Given the description of an element on the screen output the (x, y) to click on. 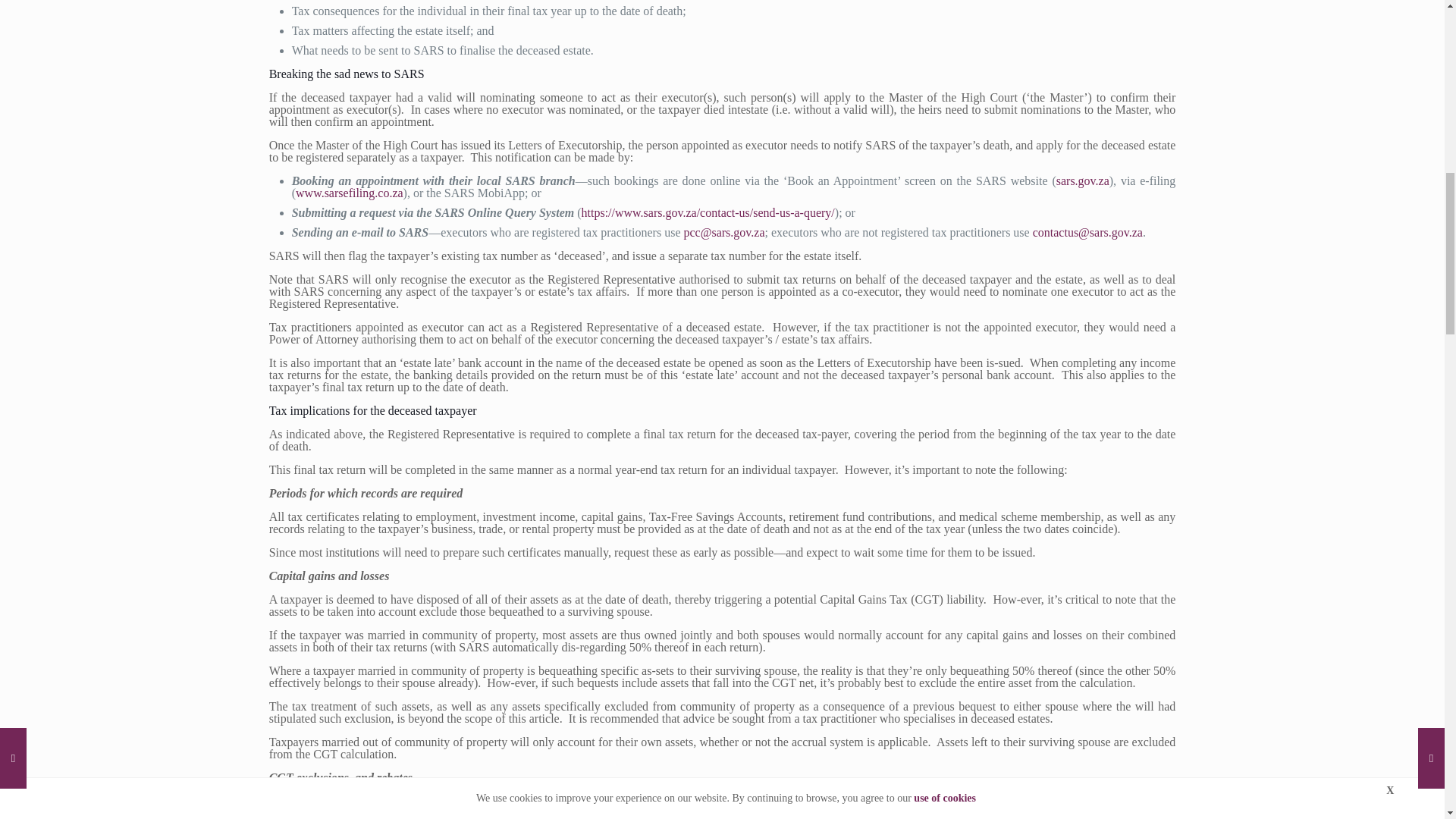
sars.gov.za (1083, 180)
www.sarsefiling.co.za (349, 192)
